Given the description of an element on the screen output the (x, y) to click on. 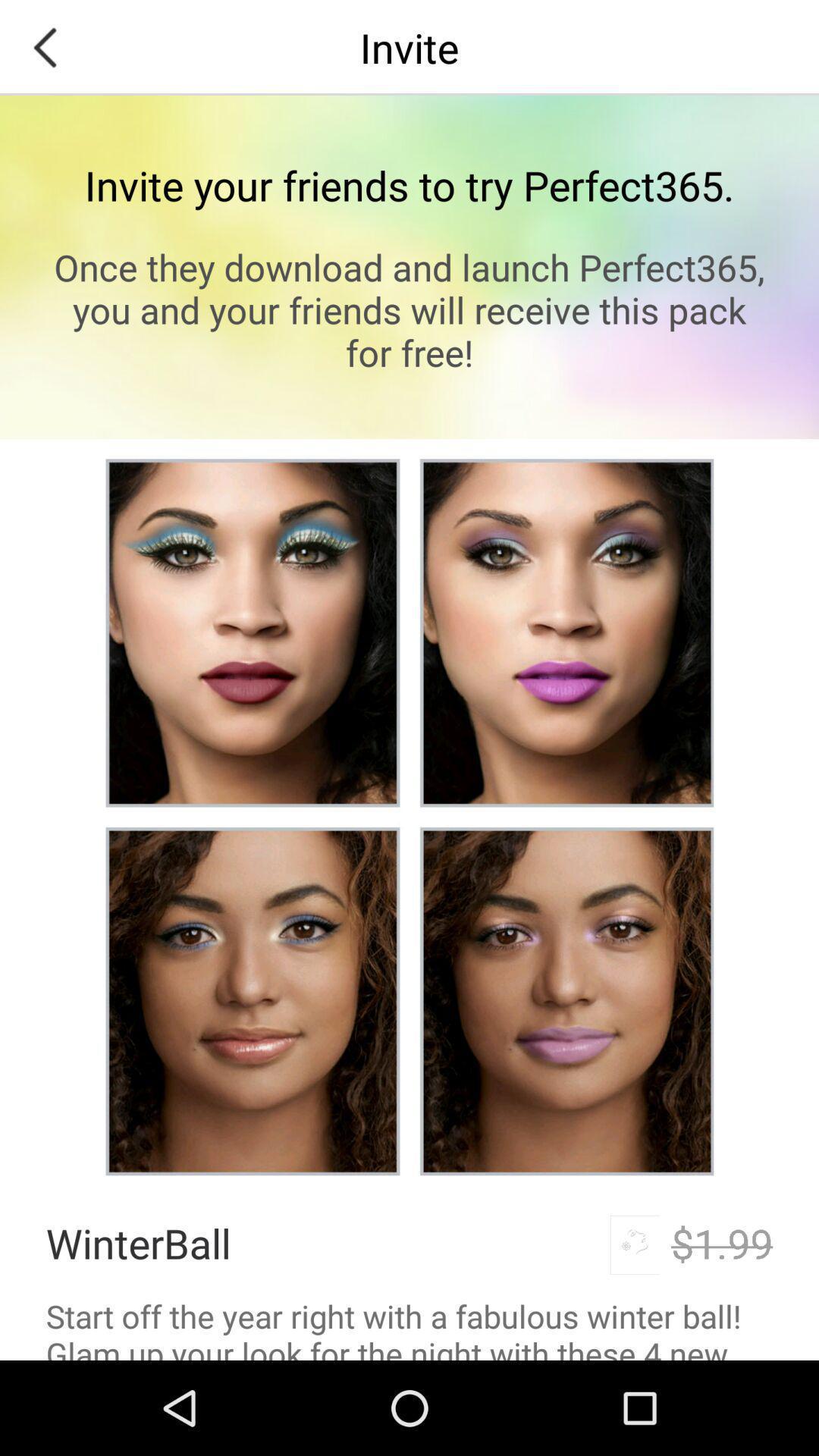
jump to the winterball (138, 1242)
